Given the description of an element on the screen output the (x, y) to click on. 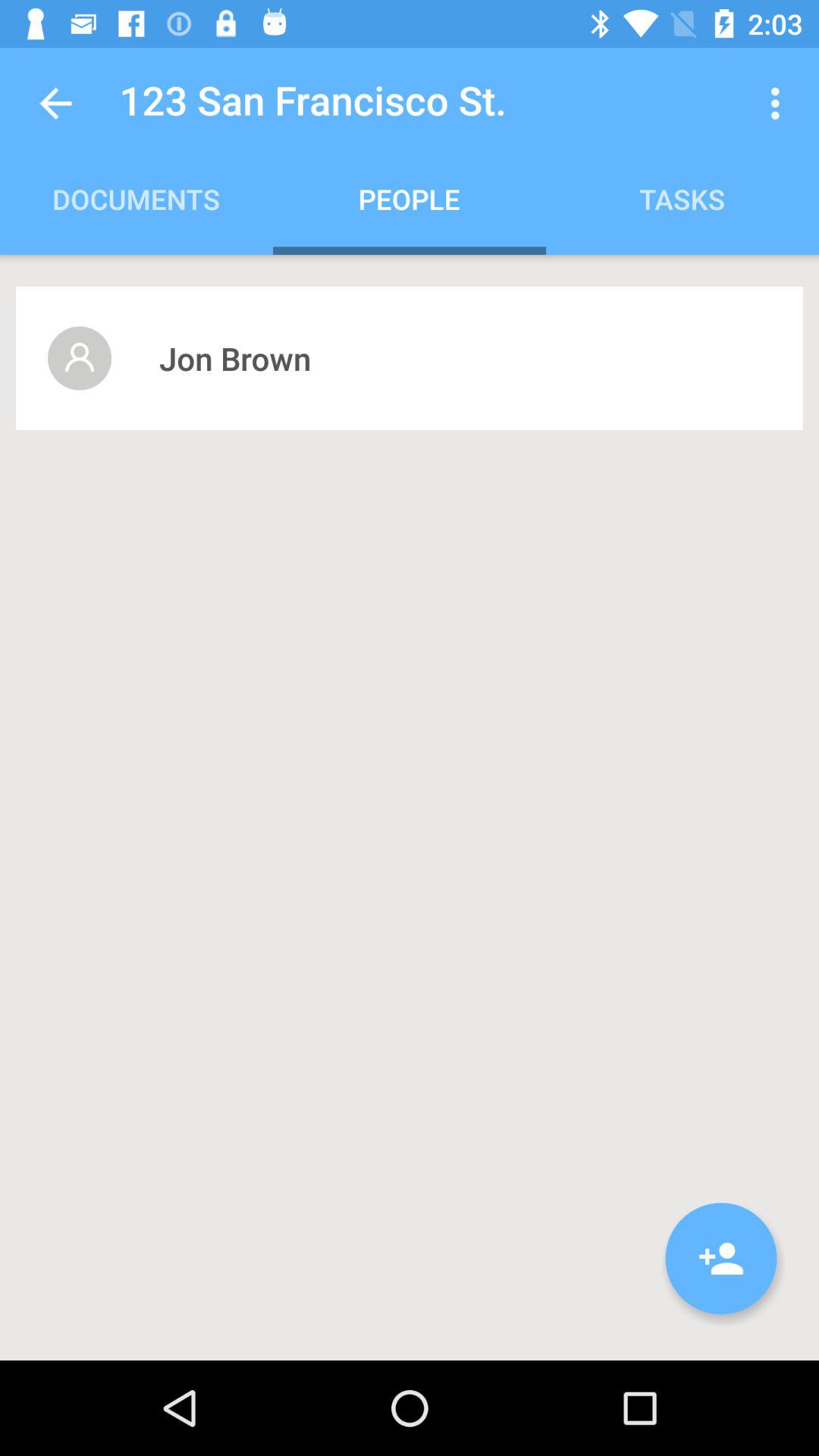
launch icon above jon brown item (779, 103)
